Given the description of an element on the screen output the (x, y) to click on. 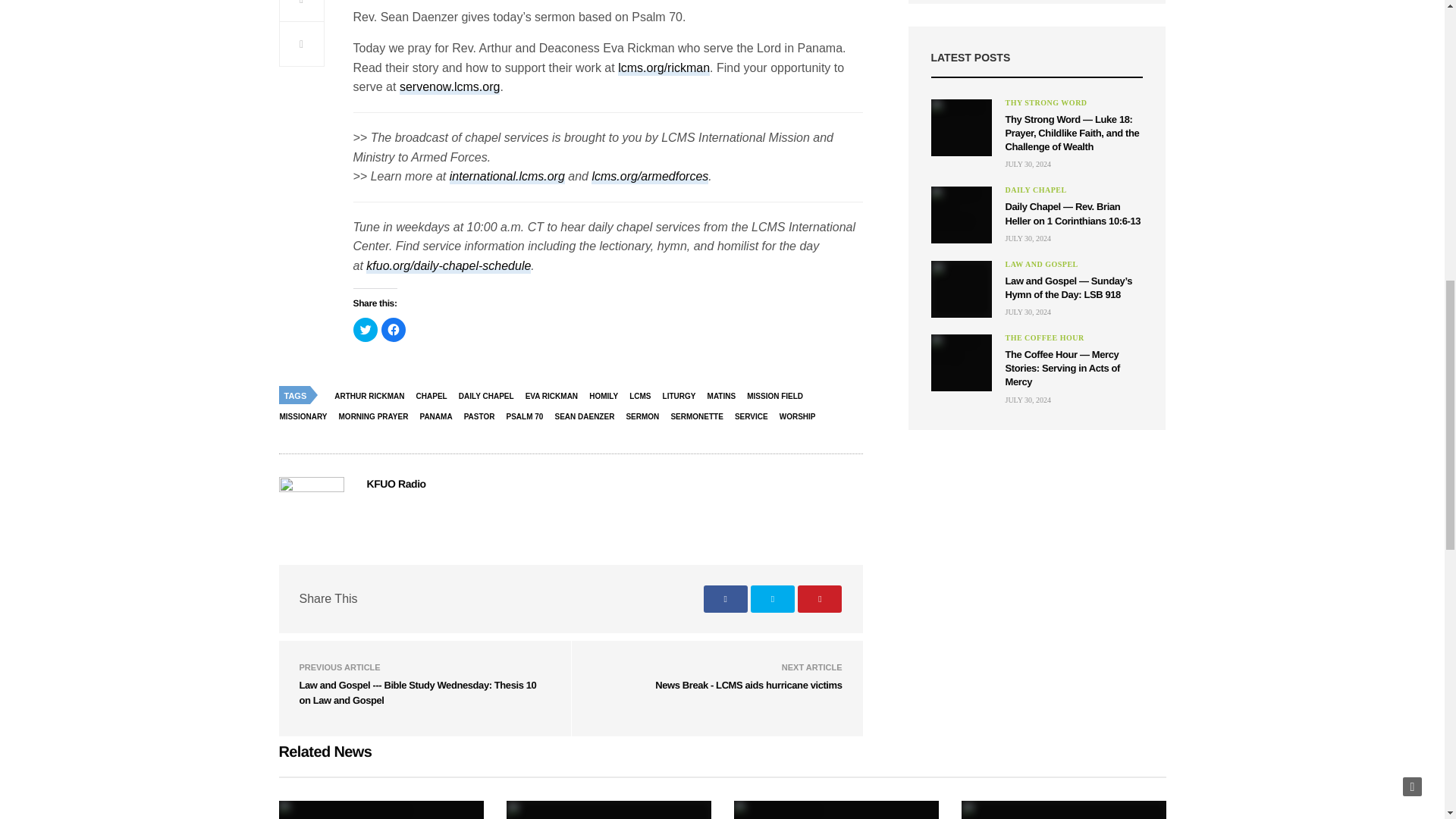
Click to share on Facebook (392, 329)
Click to share on Twitter (365, 329)
